Given the description of an element on the screen output the (x, y) to click on. 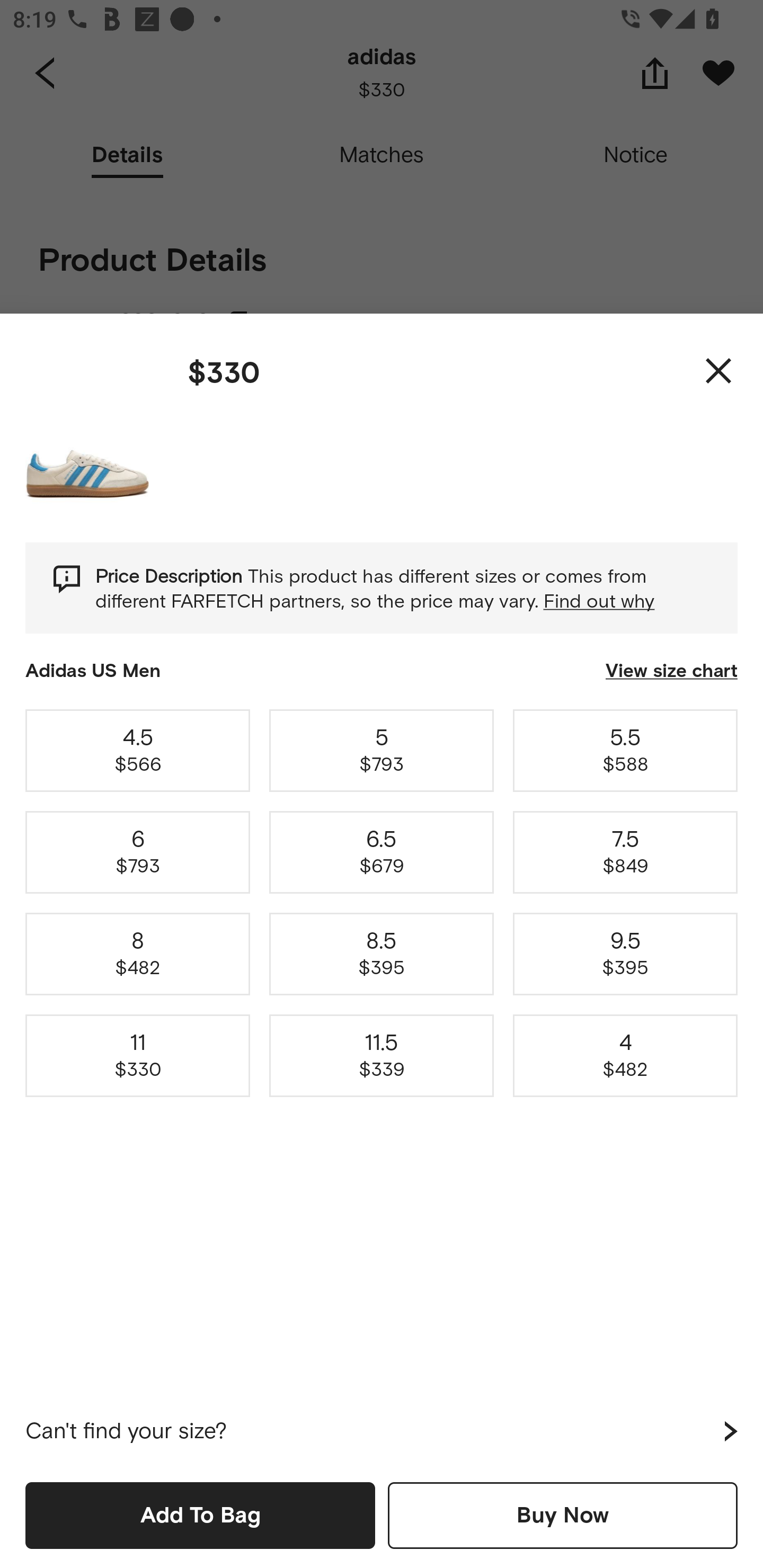
4.5 $566 (137, 749)
5 $793 (381, 749)
5.5 $588 (624, 749)
6 $793 (137, 851)
6.5 $679 (381, 851)
7.5 $849 (624, 851)
8 $482 (137, 953)
8.5 $395 (381, 953)
9.5 $395 (624, 953)
11 $330 (137, 1055)
11.5 $339 (381, 1055)
4 $482 (624, 1055)
Can't find your size? (381, 1431)
Add To Bag (200, 1515)
Buy Now (562, 1515)
